Given the description of an element on the screen output the (x, y) to click on. 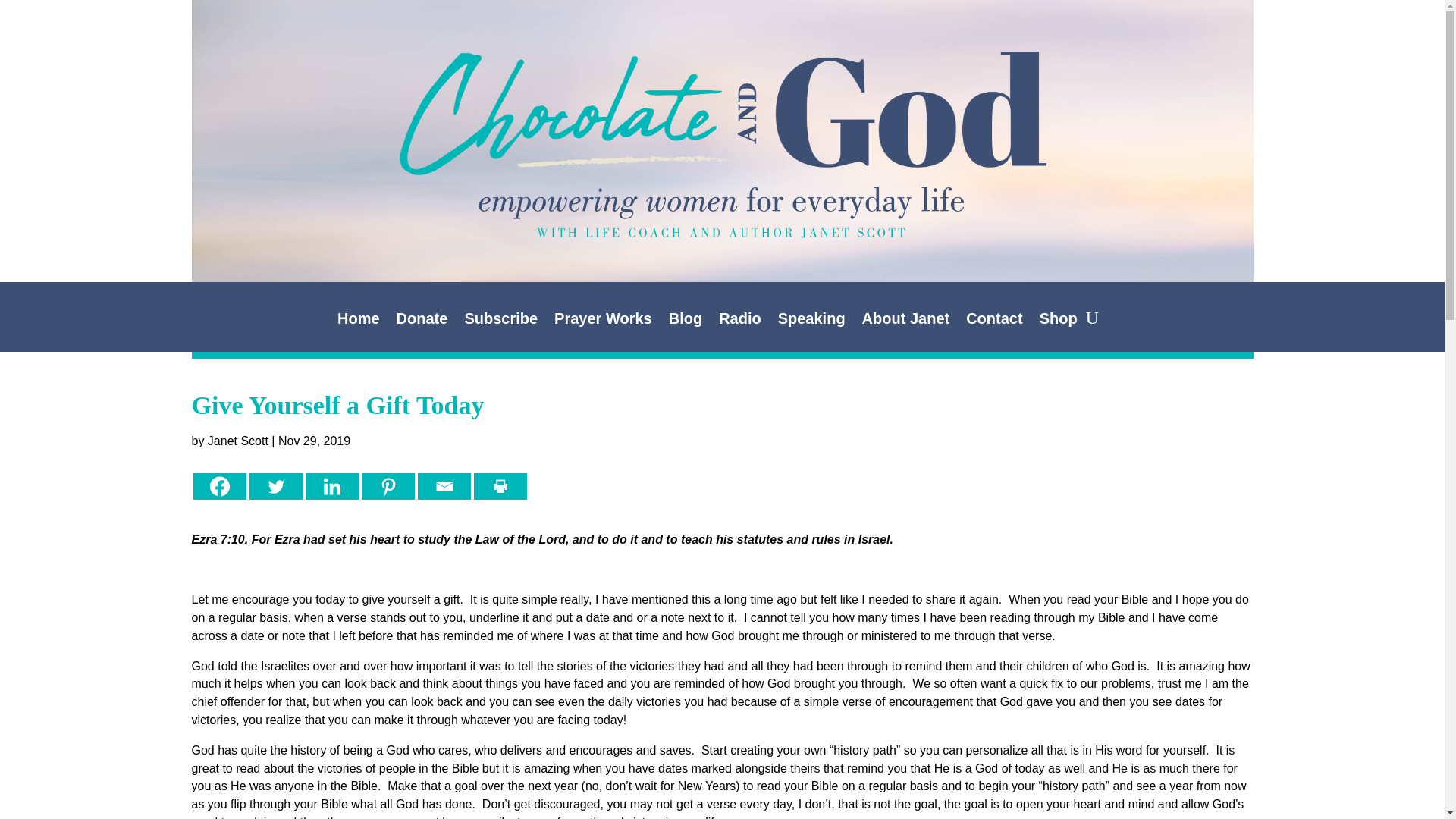
Pinterest (387, 486)
tagline (722, 212)
About Janet (905, 321)
Prayer Works (603, 321)
Speaking (811, 321)
Linkedin (331, 486)
Janet Scott (237, 440)
Subscribe (500, 321)
Radio (740, 321)
Home (358, 321)
main-logo (721, 111)
Print (499, 486)
Blog (684, 321)
Twitter (274, 486)
Shop (1058, 321)
